Given the description of an element on the screen output the (x, y) to click on. 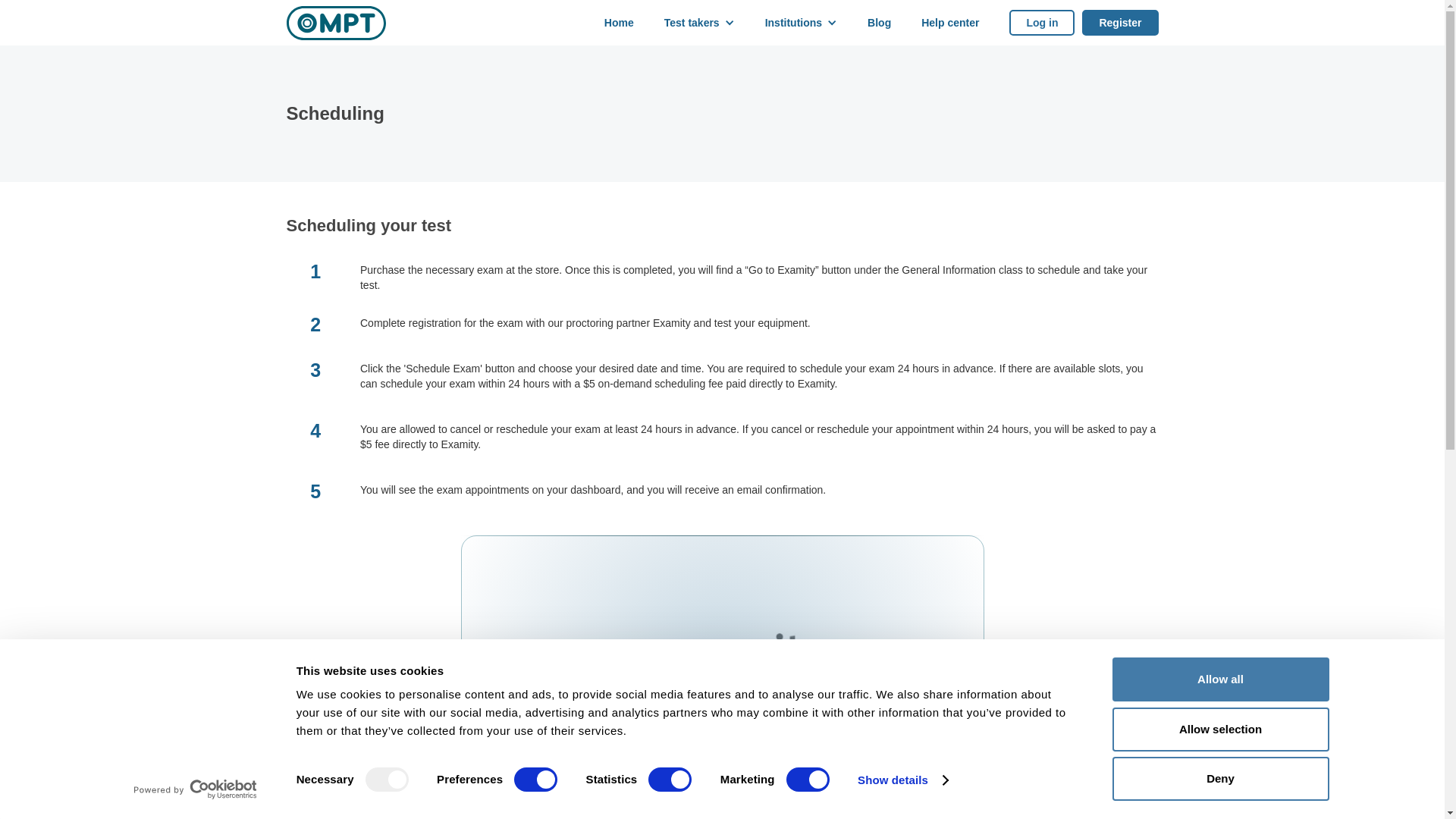
Allow all (1219, 679)
Home (619, 22)
Deny (1219, 778)
Allow selection (1219, 728)
Show details (902, 780)
